Given the description of an element on the screen output the (x, y) to click on. 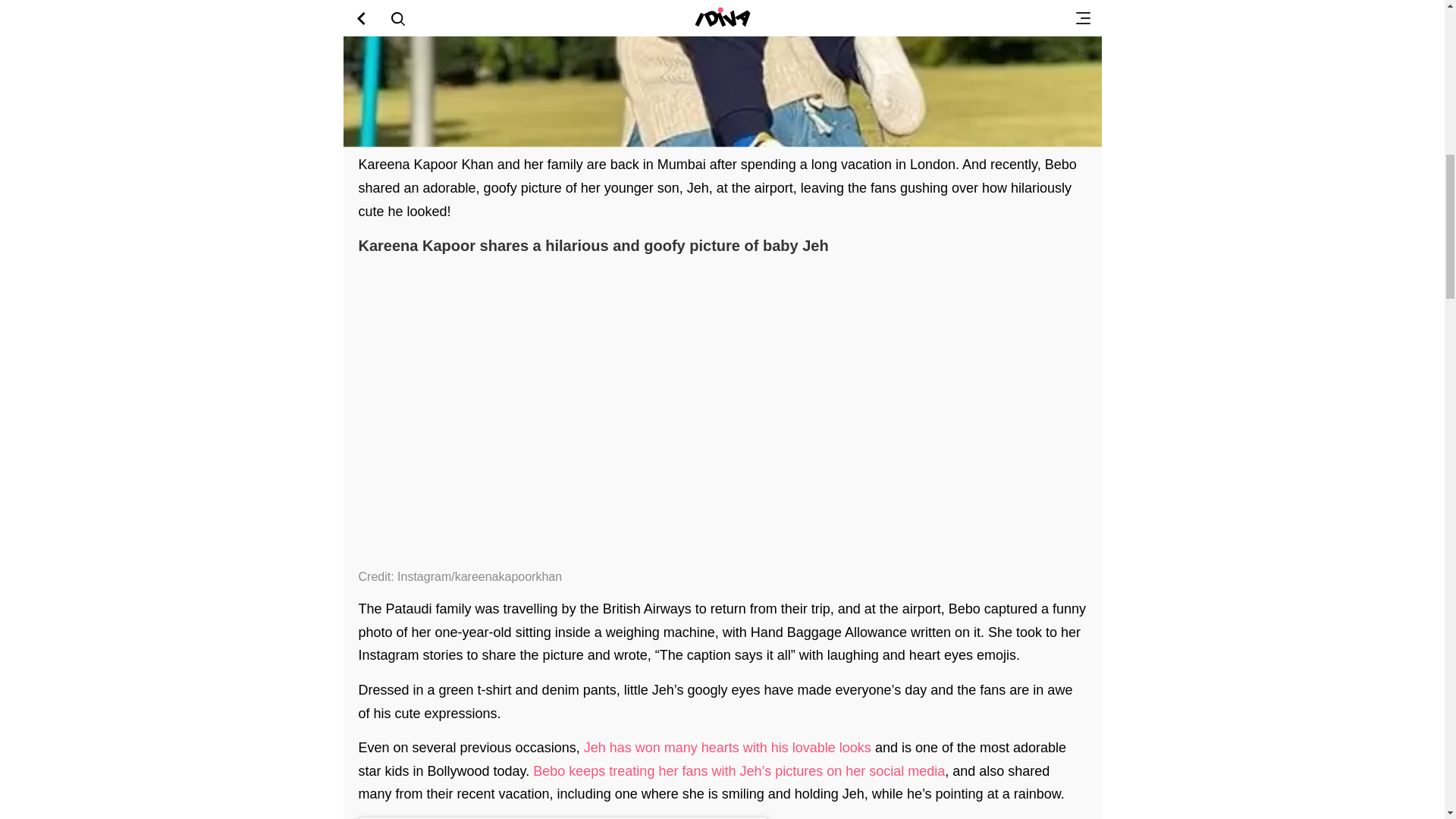
Jeh has won many hearts with his lovable looks (726, 747)
